Given the description of an element on the screen output the (x, y) to click on. 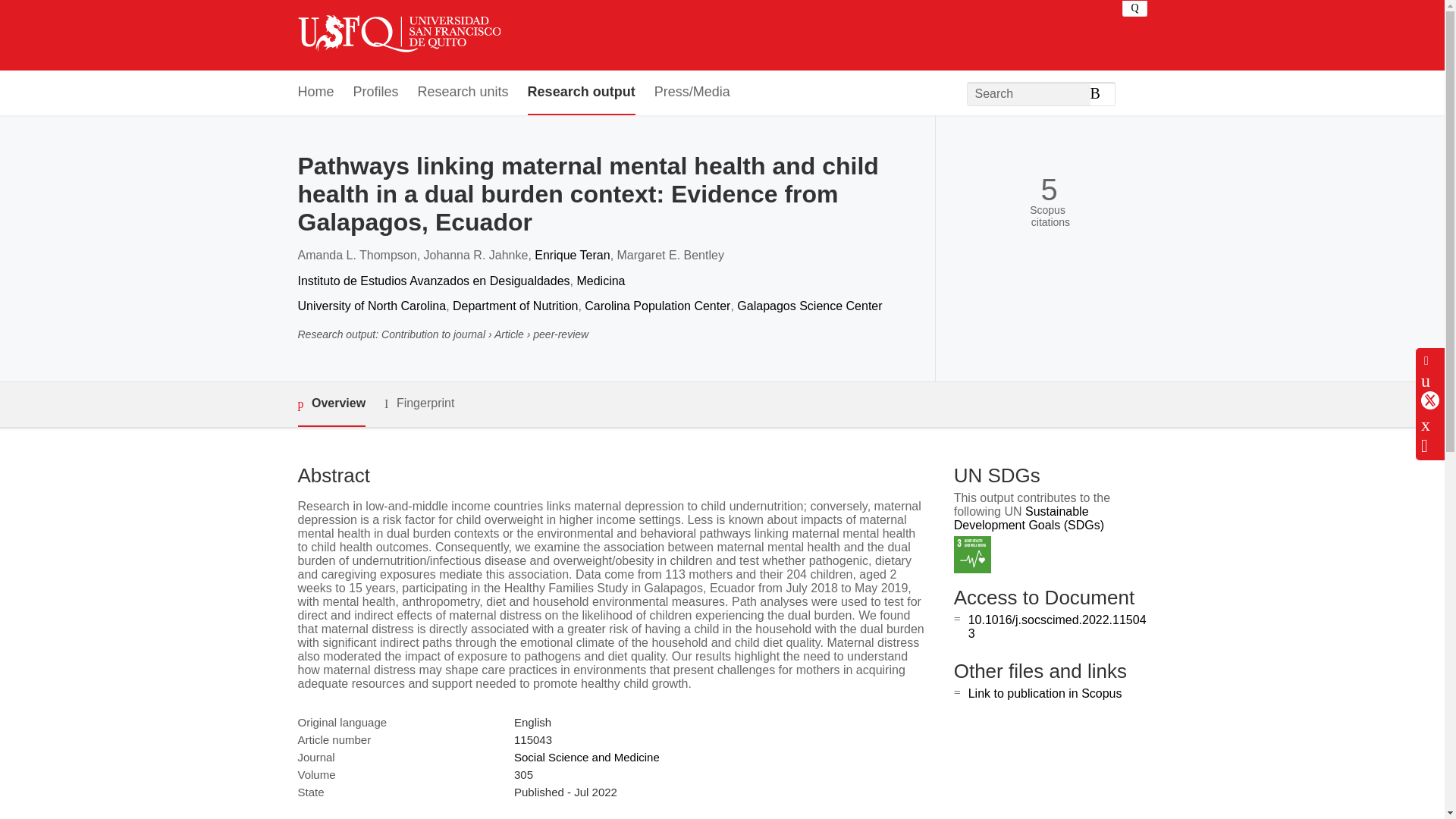
SDG 3 - Good Health and Well-being (972, 554)
Profiles (375, 92)
Instituto de Estudios Avanzados en Desigualdades (433, 280)
University of North Carolina (371, 305)
Department of Nutrition (515, 305)
Universidad San Francisco de Quito USFQ Home (398, 35)
Enrique Teran (572, 254)
Link to publication in Scopus (1045, 693)
Research units (462, 92)
Overview (331, 404)
Galapagos Science Center (809, 305)
Carolina Population Center (657, 305)
Medicina (600, 280)
Social Science and Medicine (586, 757)
